Given the description of an element on the screen output the (x, y) to click on. 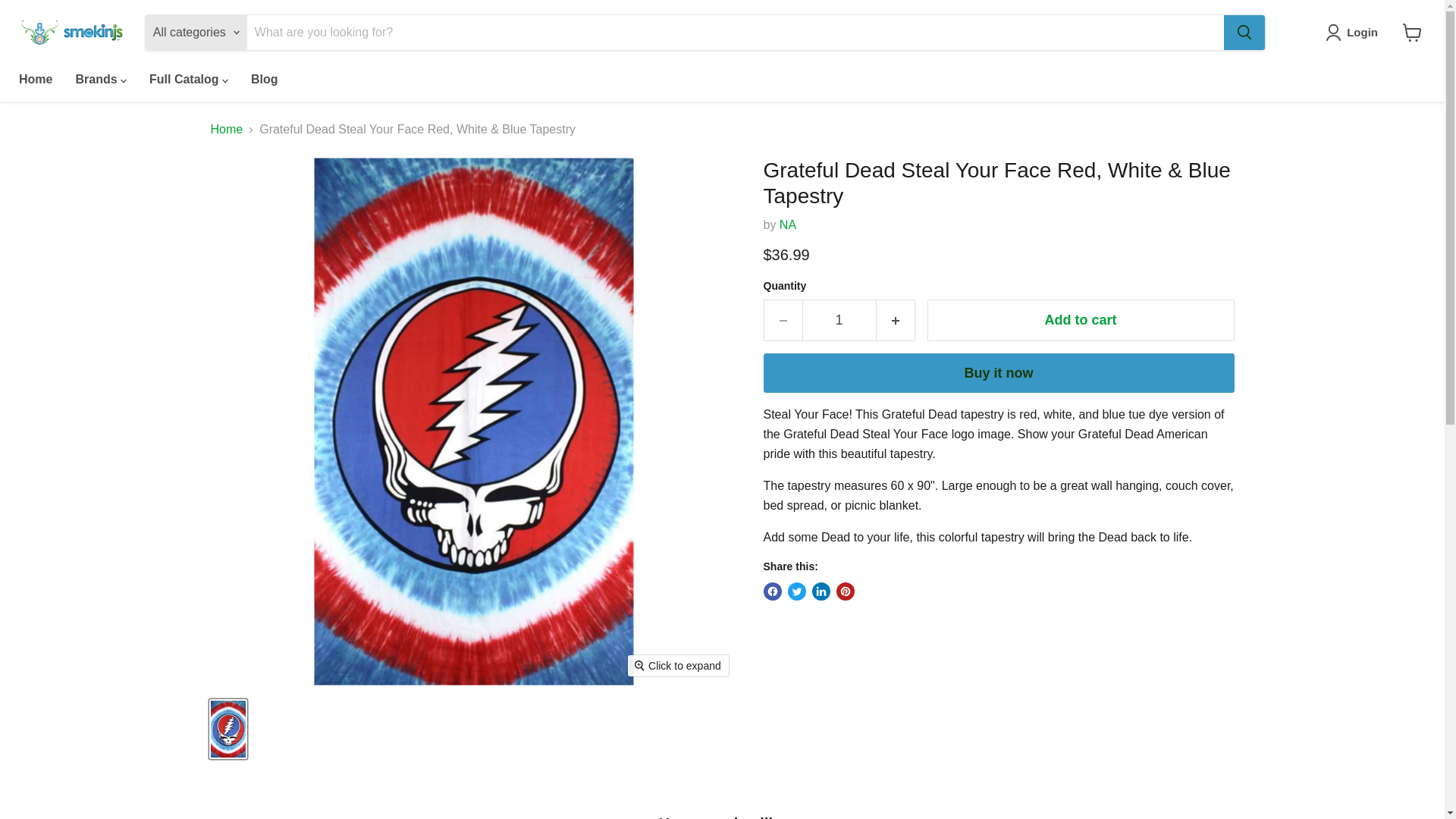
NA (787, 224)
View cart (1411, 32)
1 (839, 320)
Home (35, 79)
Login (1354, 32)
